Given the description of an element on the screen output the (x, y) to click on. 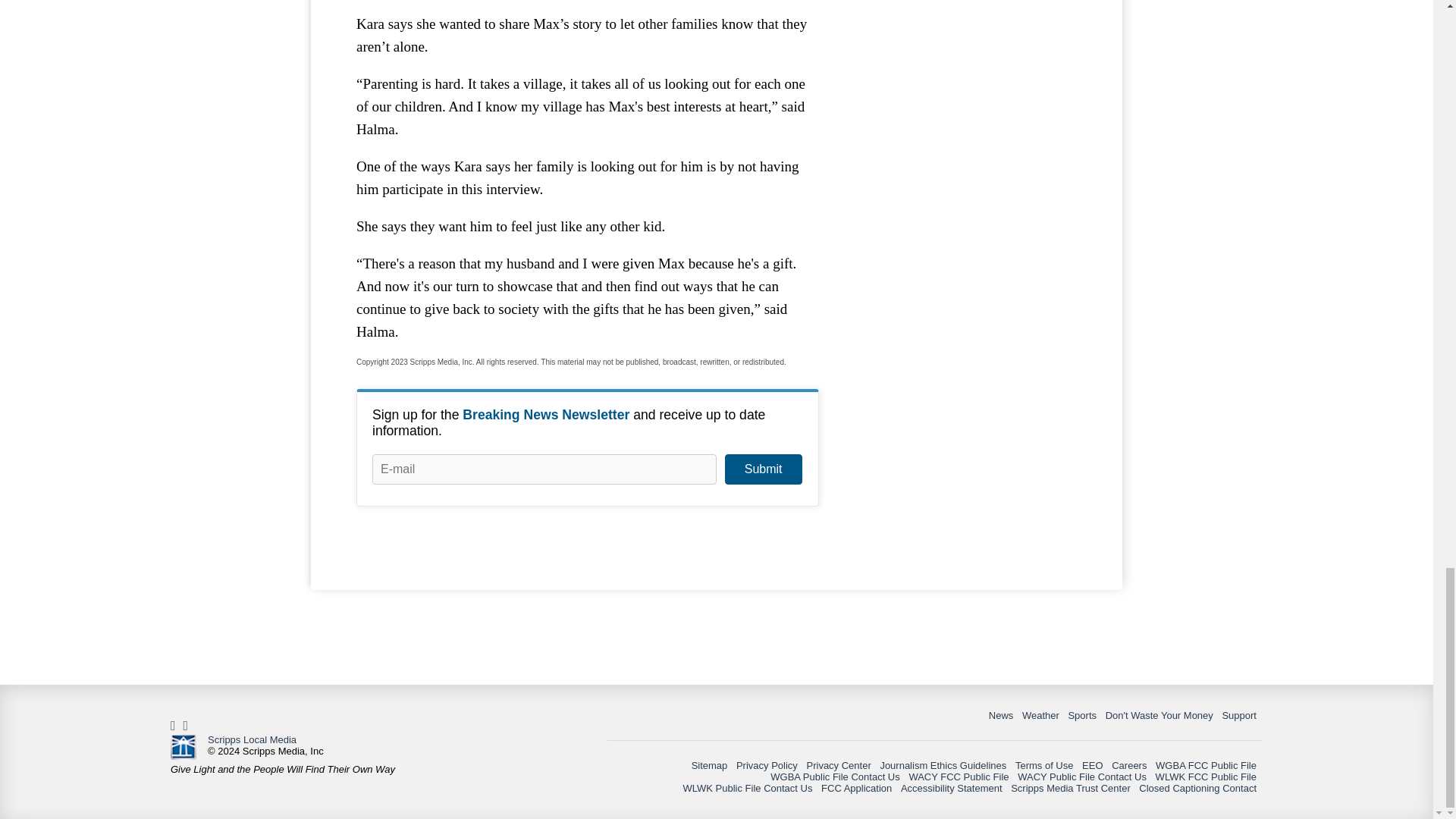
Submit (763, 469)
